Given the description of an element on the screen output the (x, y) to click on. 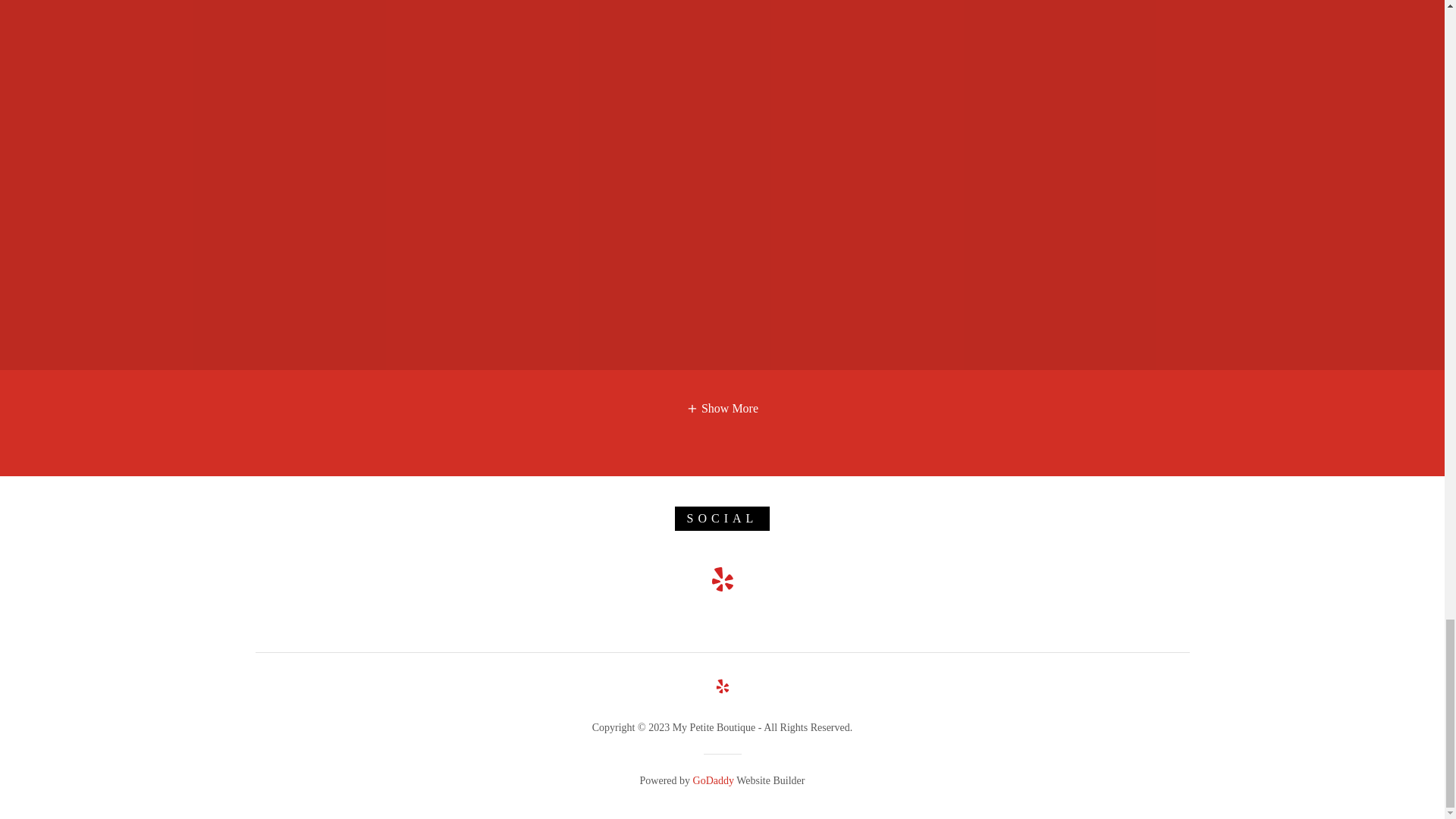
Show More (721, 407)
GoDaddy (713, 780)
